Given the description of an element on the screen output the (x, y) to click on. 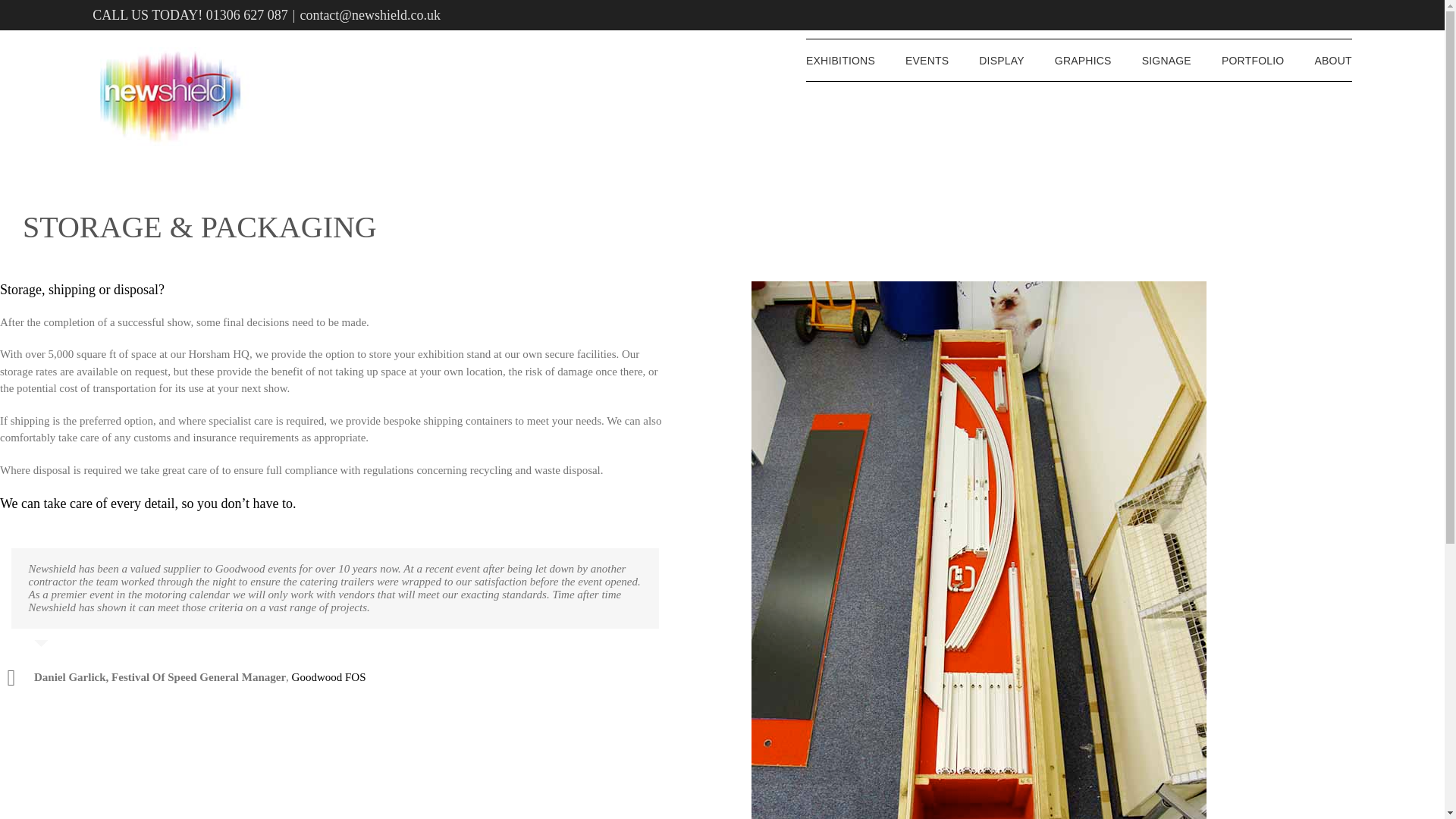
DISPLAY (1001, 60)
EXHIBITIONS (840, 60)
GRAPHICS (1083, 60)
EVENTS (927, 60)
Goodwood FOS (329, 677)
ABOUT (1332, 60)
PORTFOLIO (1252, 60)
SIGNAGE (1166, 60)
